Given the description of an element on the screen output the (x, y) to click on. 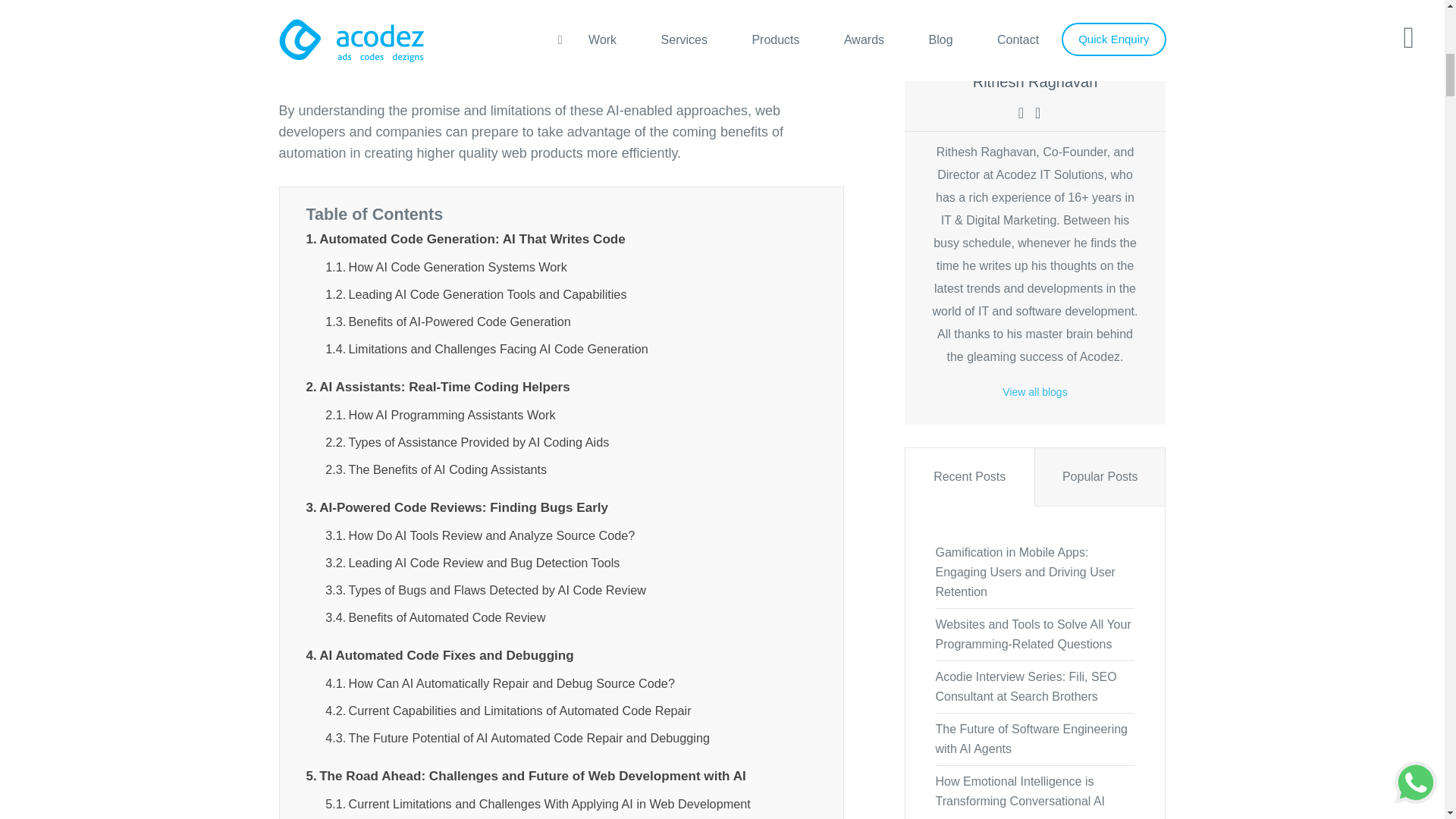
Automated Code Generation: AI That Writes Code (465, 239)
AI Automated Code Fixes and Debugging (439, 656)
How Can AI Automatically Repair and Debug Source Code? (499, 683)
Leading AI Code Generation Tools and Capabilities (475, 294)
How Do AI Tools Review and Analyze Source Code? (479, 535)
Leading AI Code Review and Bug Detection Tools (472, 562)
The Benefits of AI Coding Assistants (435, 469)
Types of Assistance Provided by AI Coding Aids (466, 442)
